Given the description of an element on the screen output the (x, y) to click on. 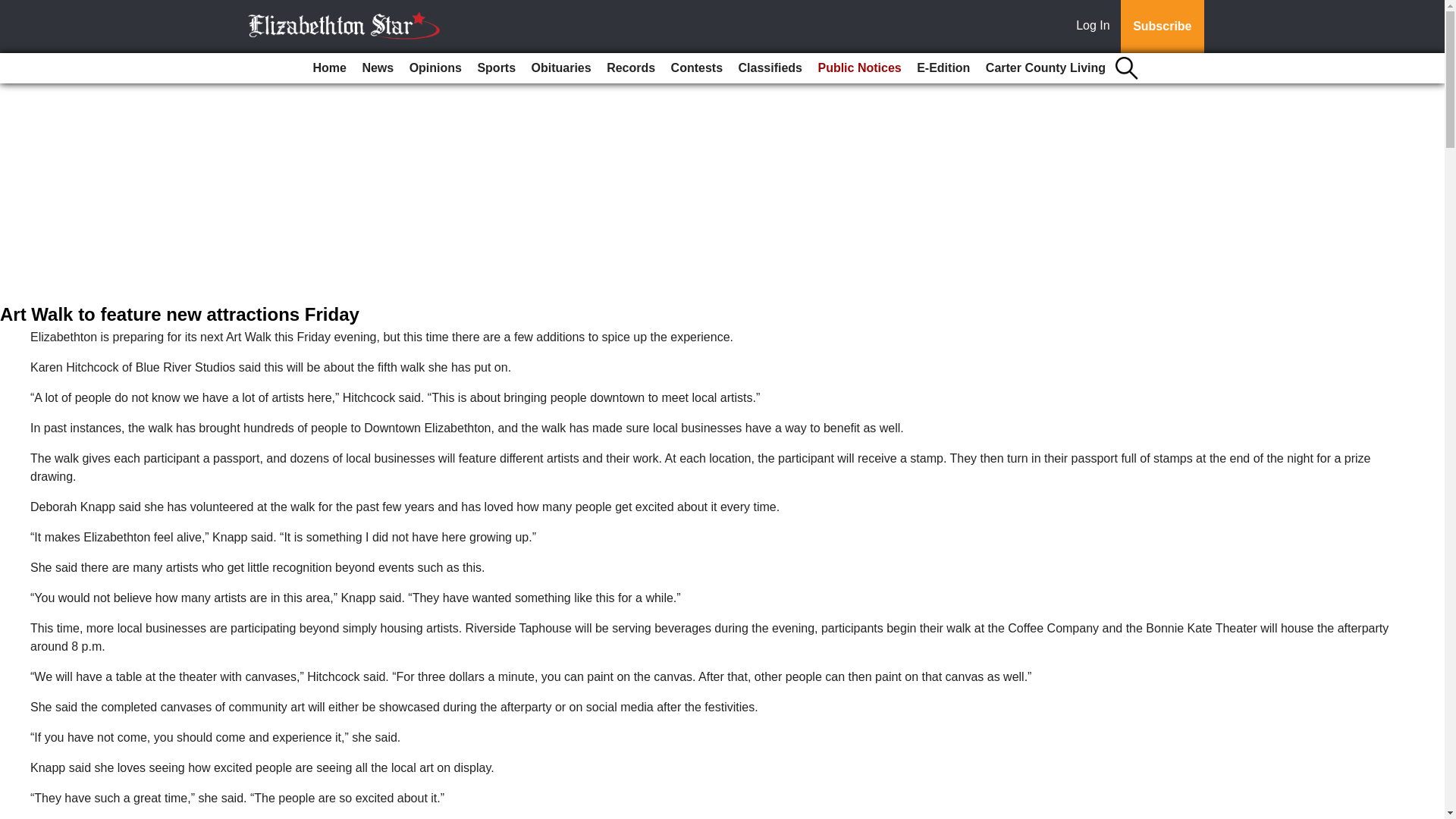
E-Edition (943, 68)
Subscribe (1162, 26)
Go (13, 9)
Log In (1095, 26)
Opinions (435, 68)
Sports (495, 68)
Records (630, 68)
Home (328, 68)
Classifieds (770, 68)
Contests (697, 68)
Carter County Living (1045, 68)
Public Notices (858, 68)
News (376, 68)
Obituaries (560, 68)
